Given the description of an element on the screen output the (x, y) to click on. 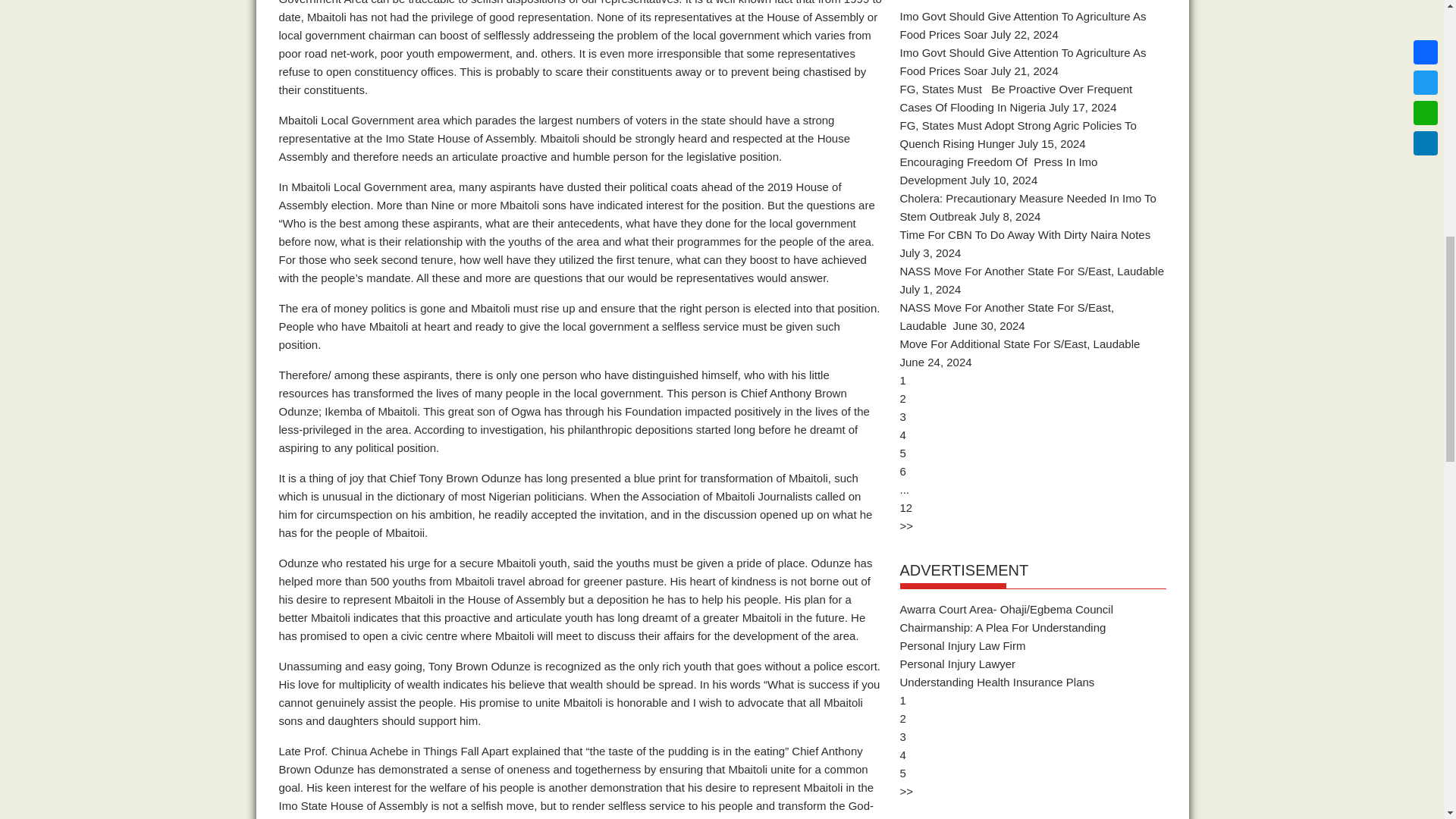
2 (902, 397)
